Given the description of an element on the screen output the (x, y) to click on. 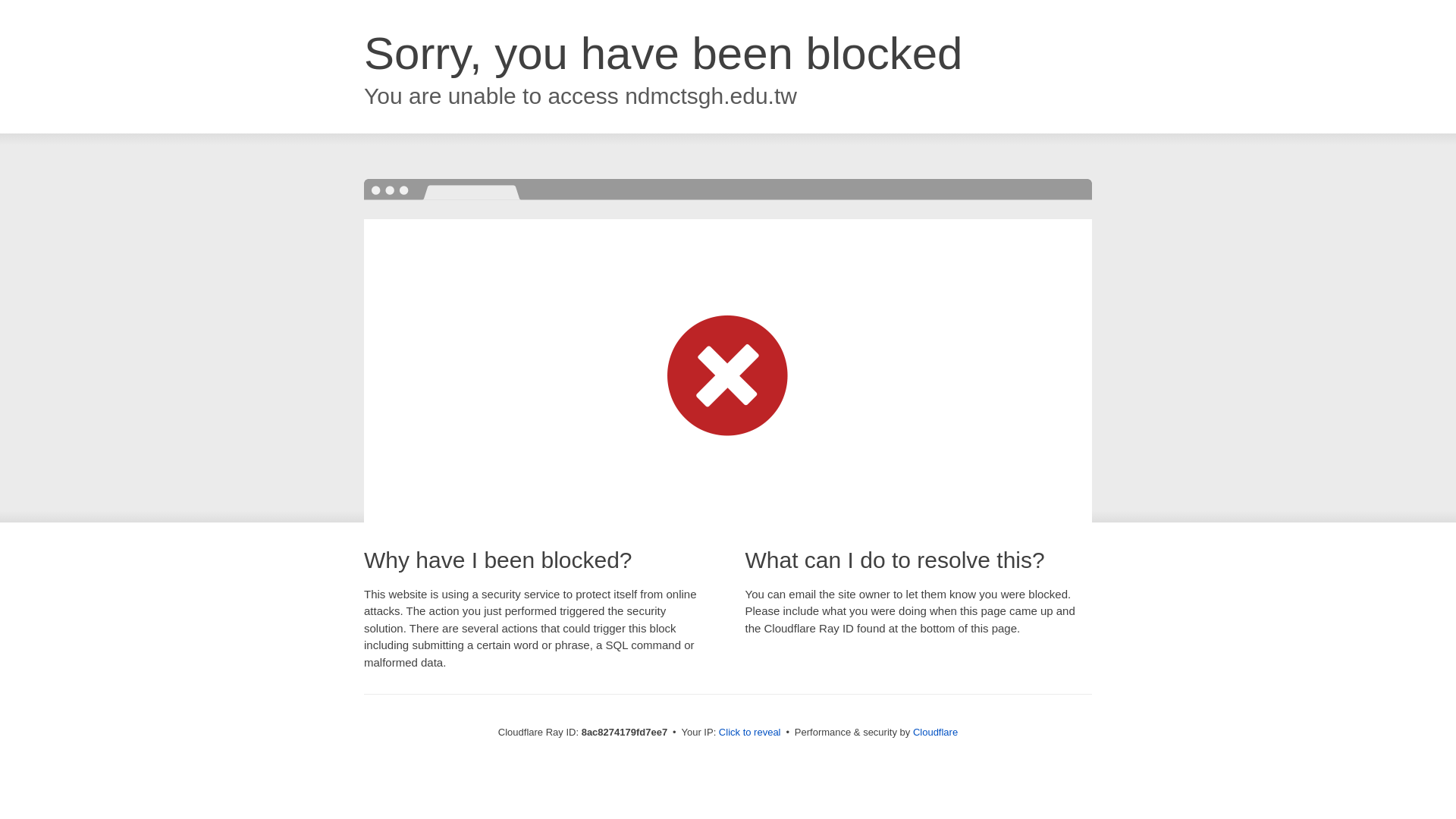
Cloudflare (935, 731)
Click to reveal (749, 732)
